Given the description of an element on the screen output the (x, y) to click on. 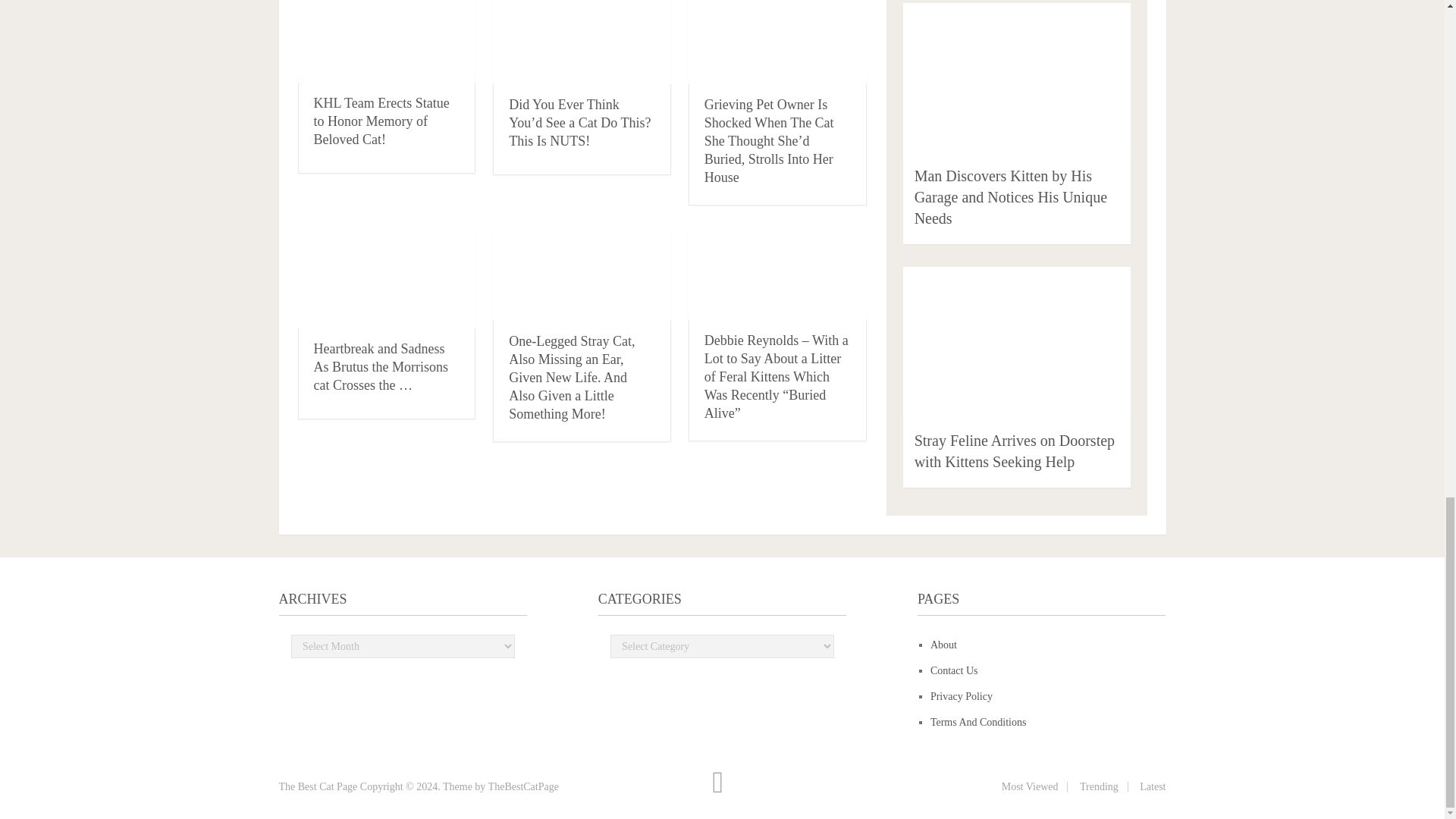
KHL Team Erects Statue to Honor Memory of Beloved Cat! (381, 121)
KHL Team Erects Statue to Honor Memory of Beloved Cat! (386, 41)
KHL Team Erects Statue to Honor Memory of Beloved Cat! (381, 121)
